Given the description of an element on the screen output the (x, y) to click on. 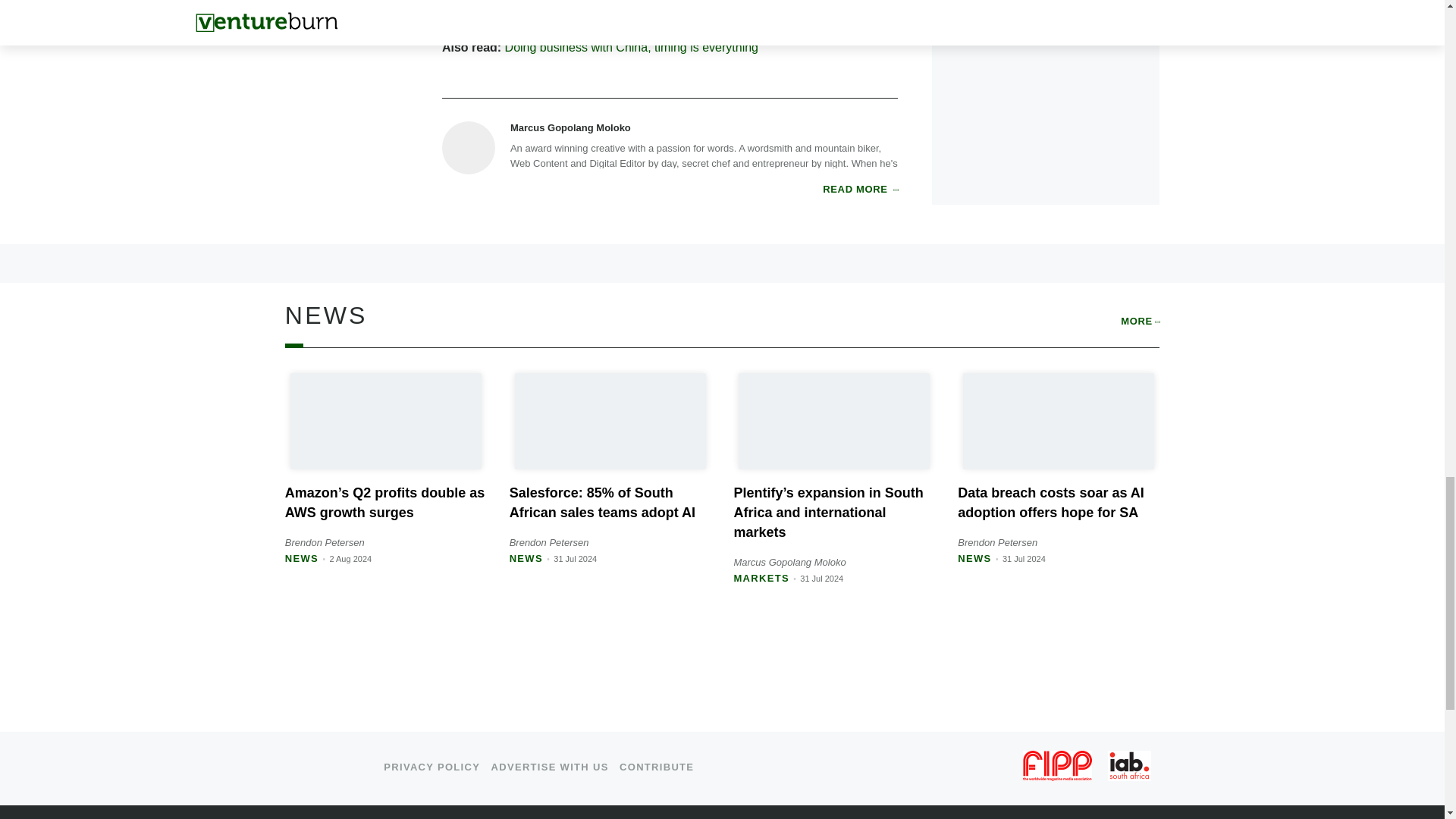
NEWS (526, 558)
Brendon Petersen (549, 542)
READ MORE (860, 189)
Marcus Gopolang Moloko (789, 562)
31 Jul 2024 (574, 558)
Brendon Petersen (325, 542)
Brendon Petersen (997, 542)
MORE (1139, 321)
Data breach costs soar as AI adoption offers hope for SA (1050, 502)
PRIVACY POLICY (432, 767)
CONTRIBUTE (657, 767)
31 Jul 2024 (1024, 558)
NEWS (974, 558)
ADVERTISE WITH US (550, 767)
NEWS (301, 558)
